Given the description of an element on the screen output the (x, y) to click on. 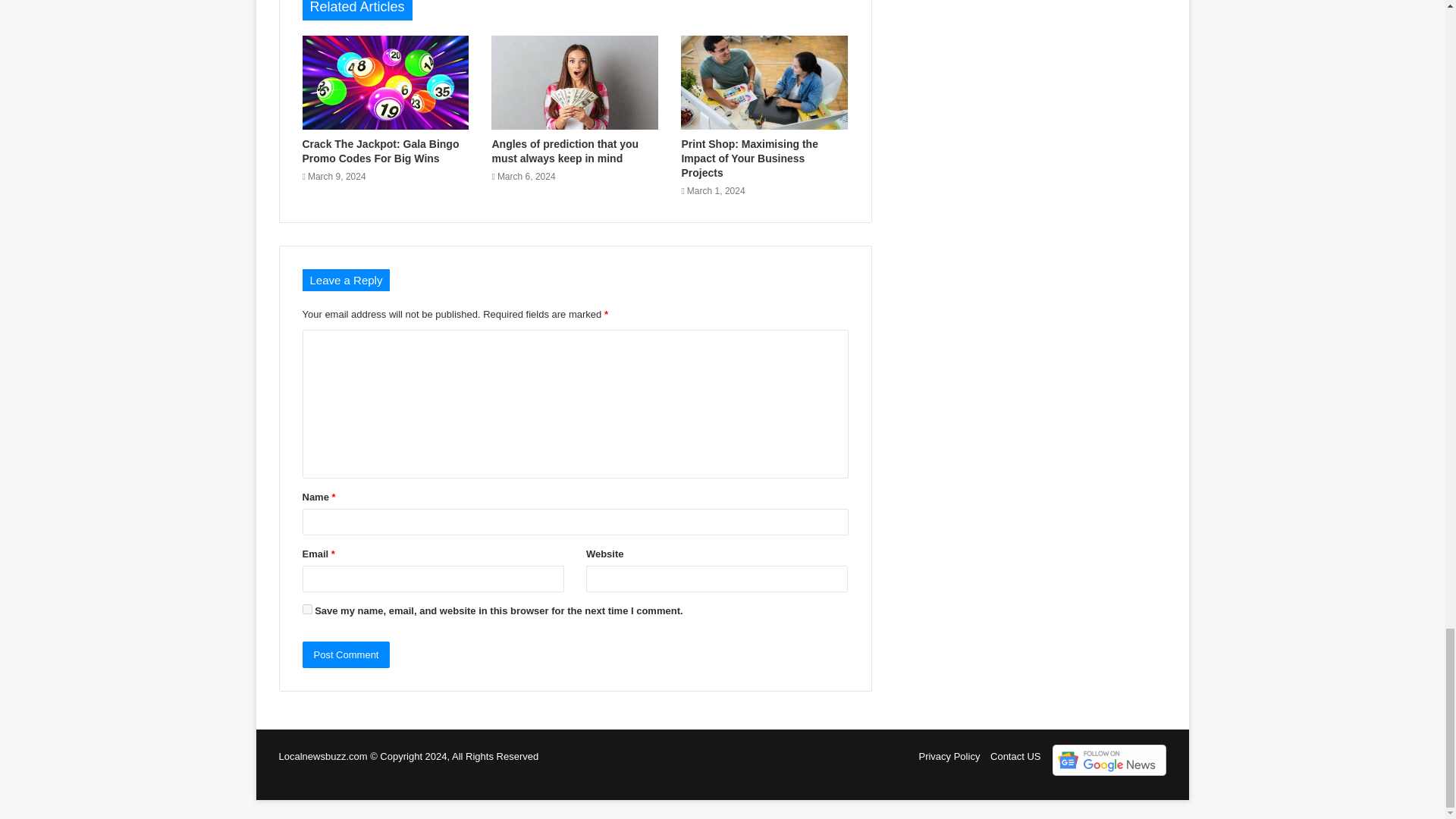
yes (306, 609)
Post Comment (345, 654)
